Given the description of an element on the screen output the (x, y) to click on. 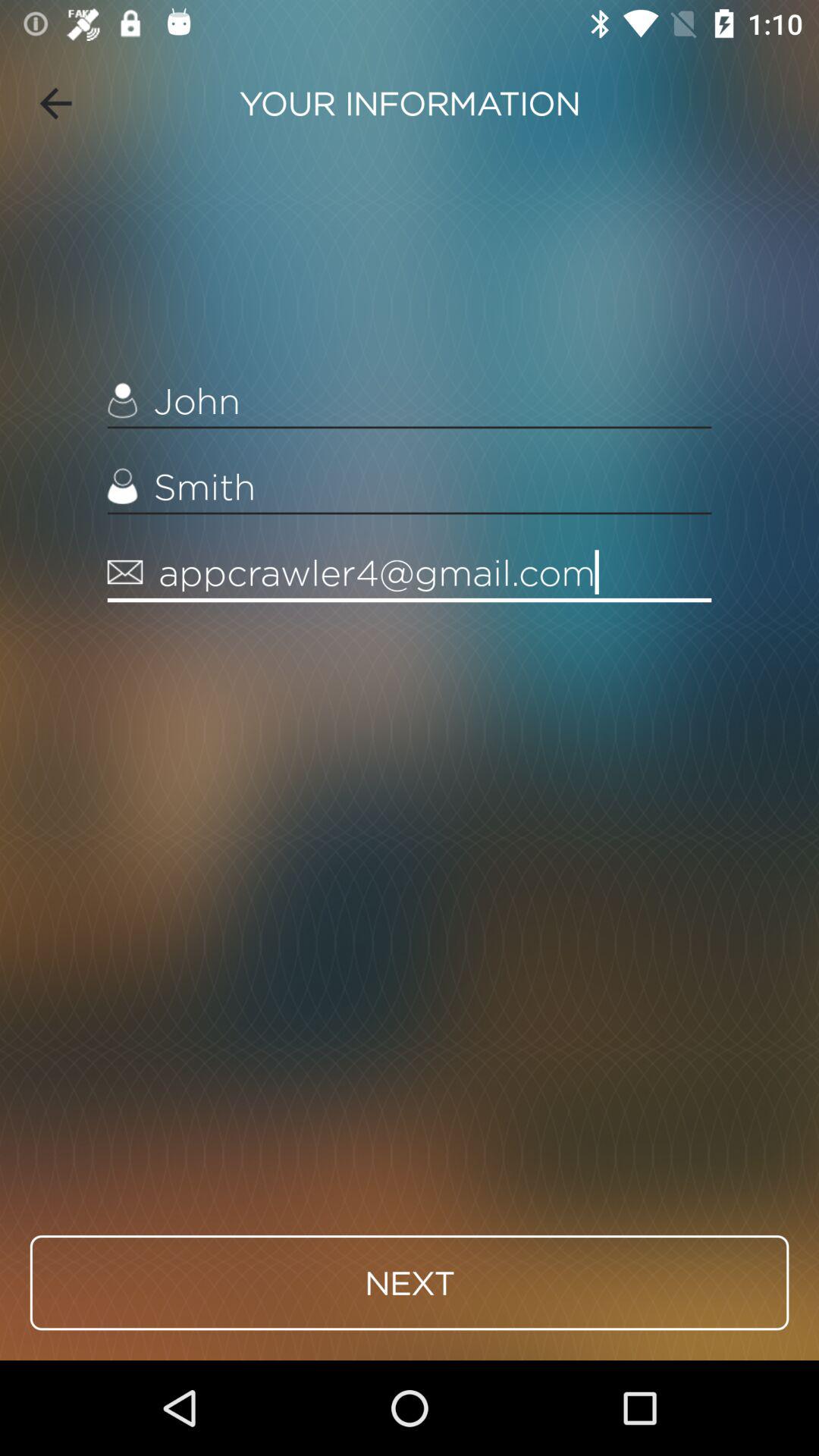
choose the smith icon (409, 487)
